Given the description of an element on the screen output the (x, y) to click on. 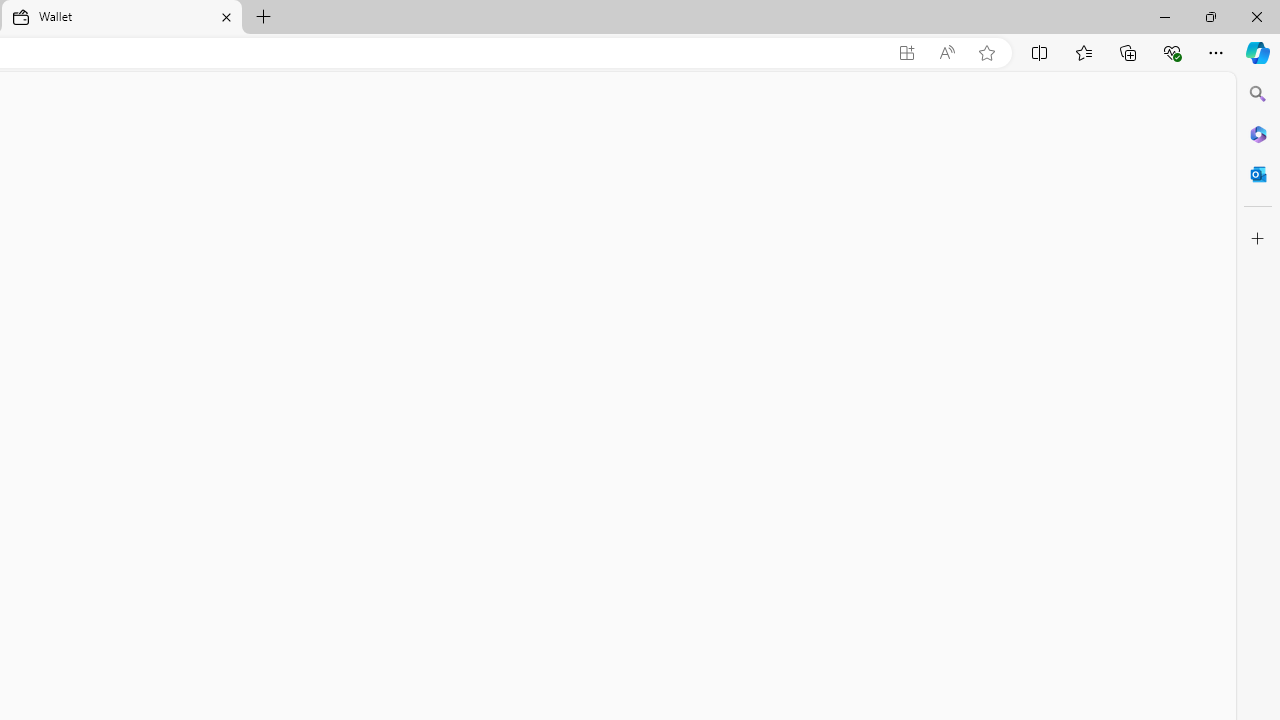
Close Outlook pane (1258, 174)
App available. Install Microsoft Wallet (906, 53)
